Given the description of an element on the screen output the (x, y) to click on. 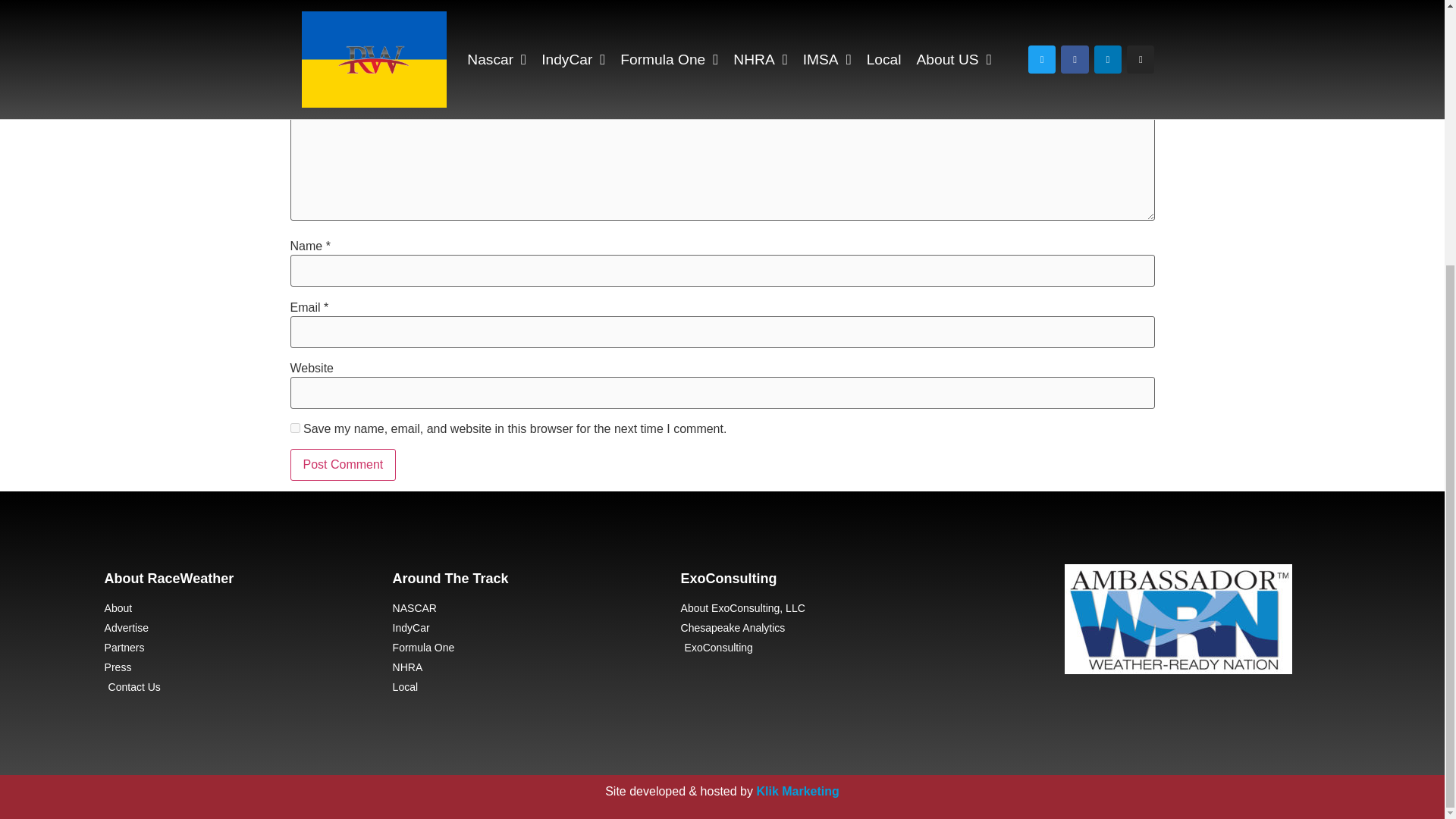
yes (294, 428)
Post Comment (342, 464)
